Given the description of an element on the screen output the (x, y) to click on. 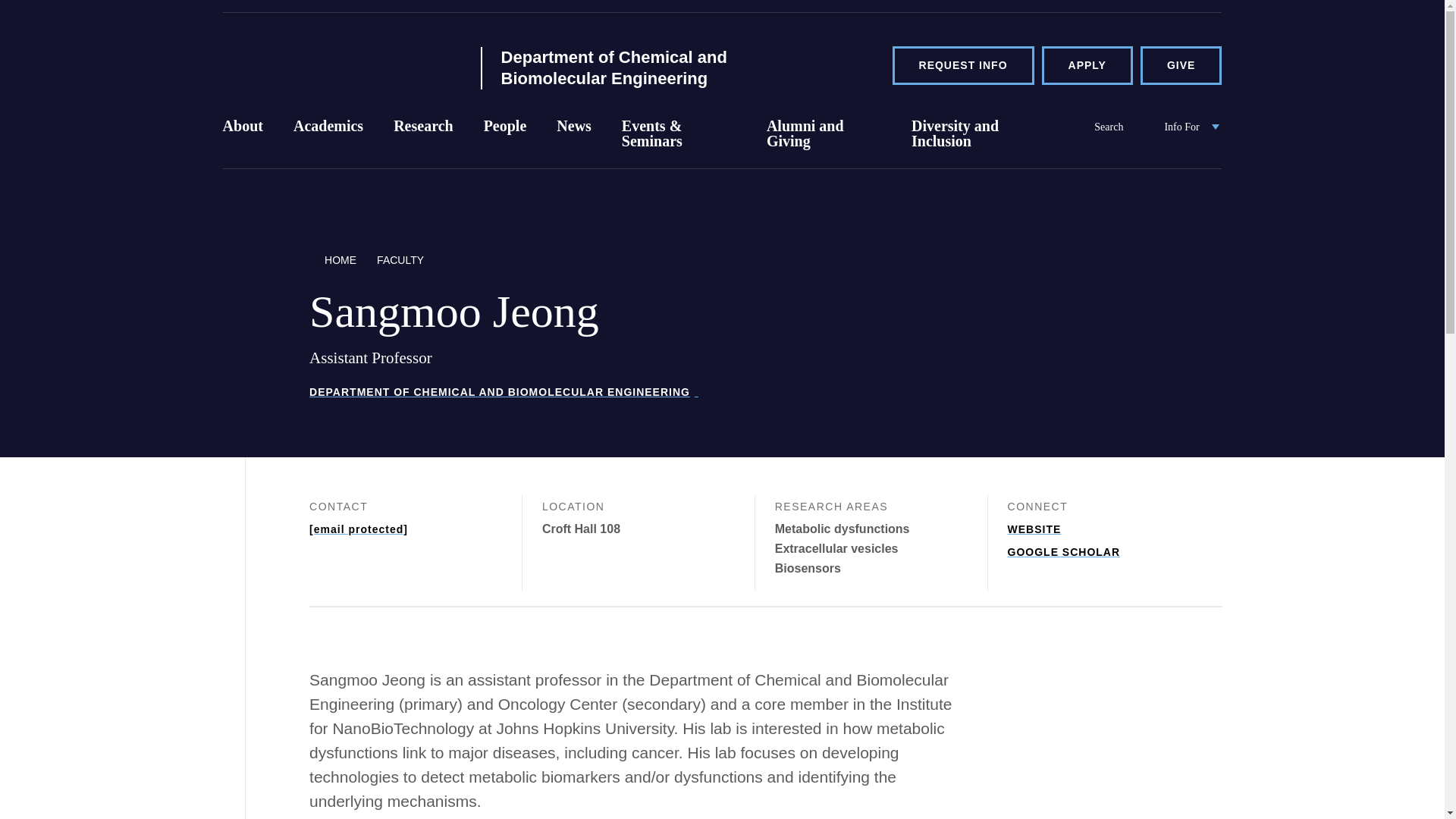
APPLY (1087, 65)
People (504, 138)
GIVE (1180, 65)
REQUEST INFO (962, 65)
Academics (328, 138)
Research (423, 138)
News (574, 138)
Department of Chemical and Biomolecular Engineering (341, 63)
Department of Chemical and Biomolecular Engineering (627, 67)
About (243, 138)
